Given the description of an element on the screen output the (x, y) to click on. 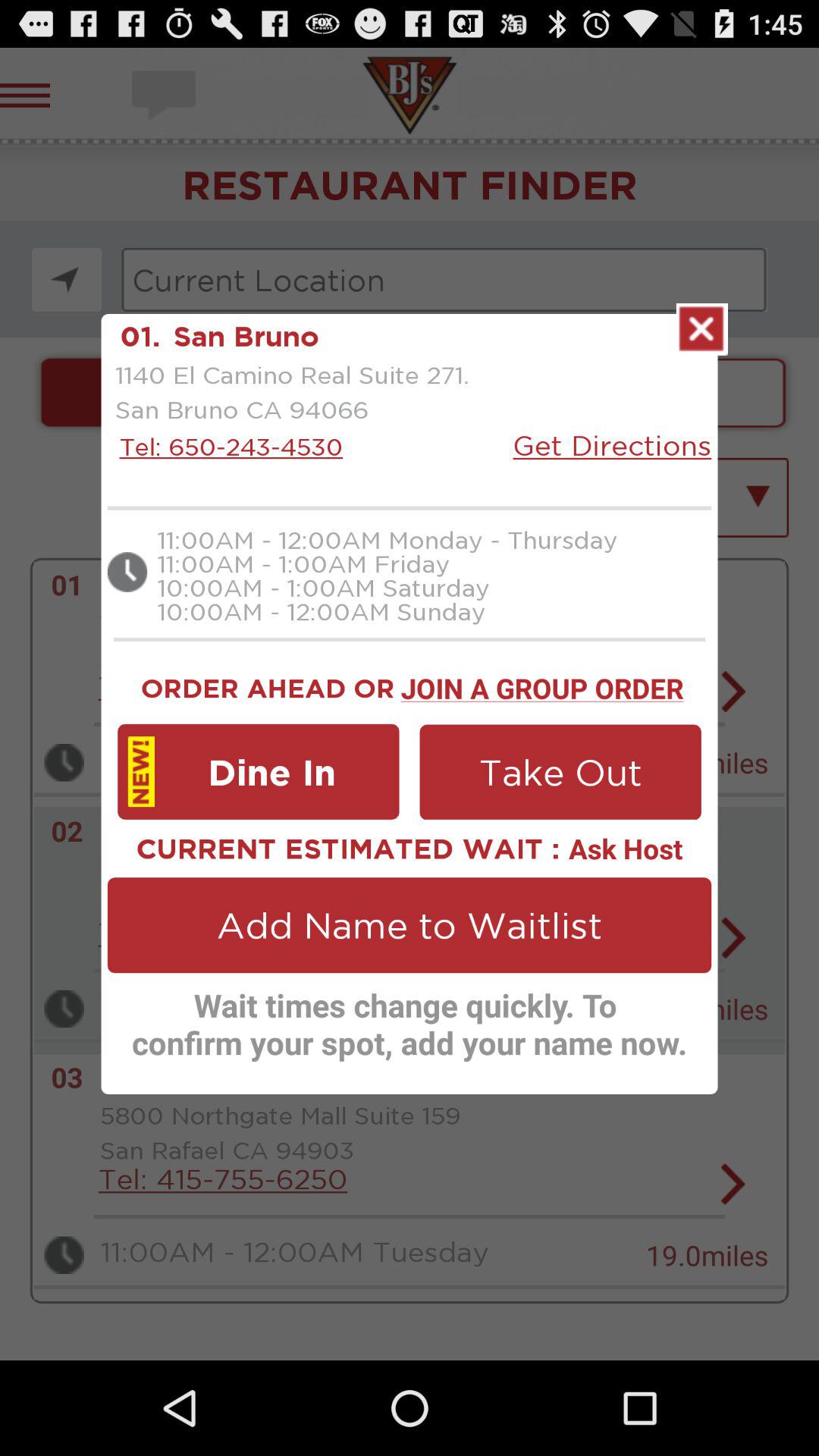
open app below order ahead or app (258, 771)
